Given the description of an element on the screen output the (x, y) to click on. 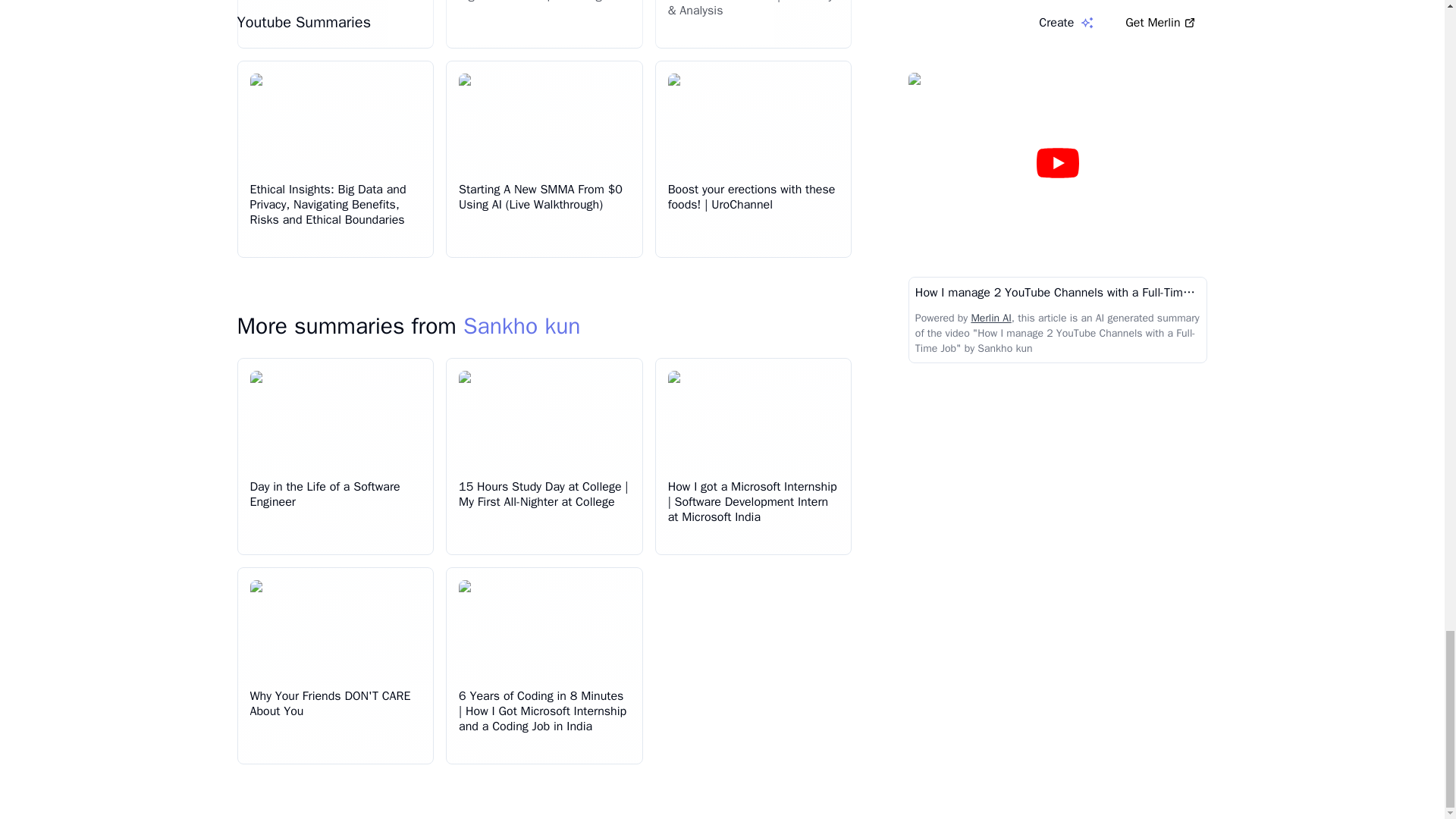
A simple code generator algorithm in compiler design (533, 1)
Day in the Life of a Software Engineer (325, 494)
Why Your Friends DON'T CARE About You (330, 703)
Sankho kun (521, 326)
